Given the description of an element on the screen output the (x, y) to click on. 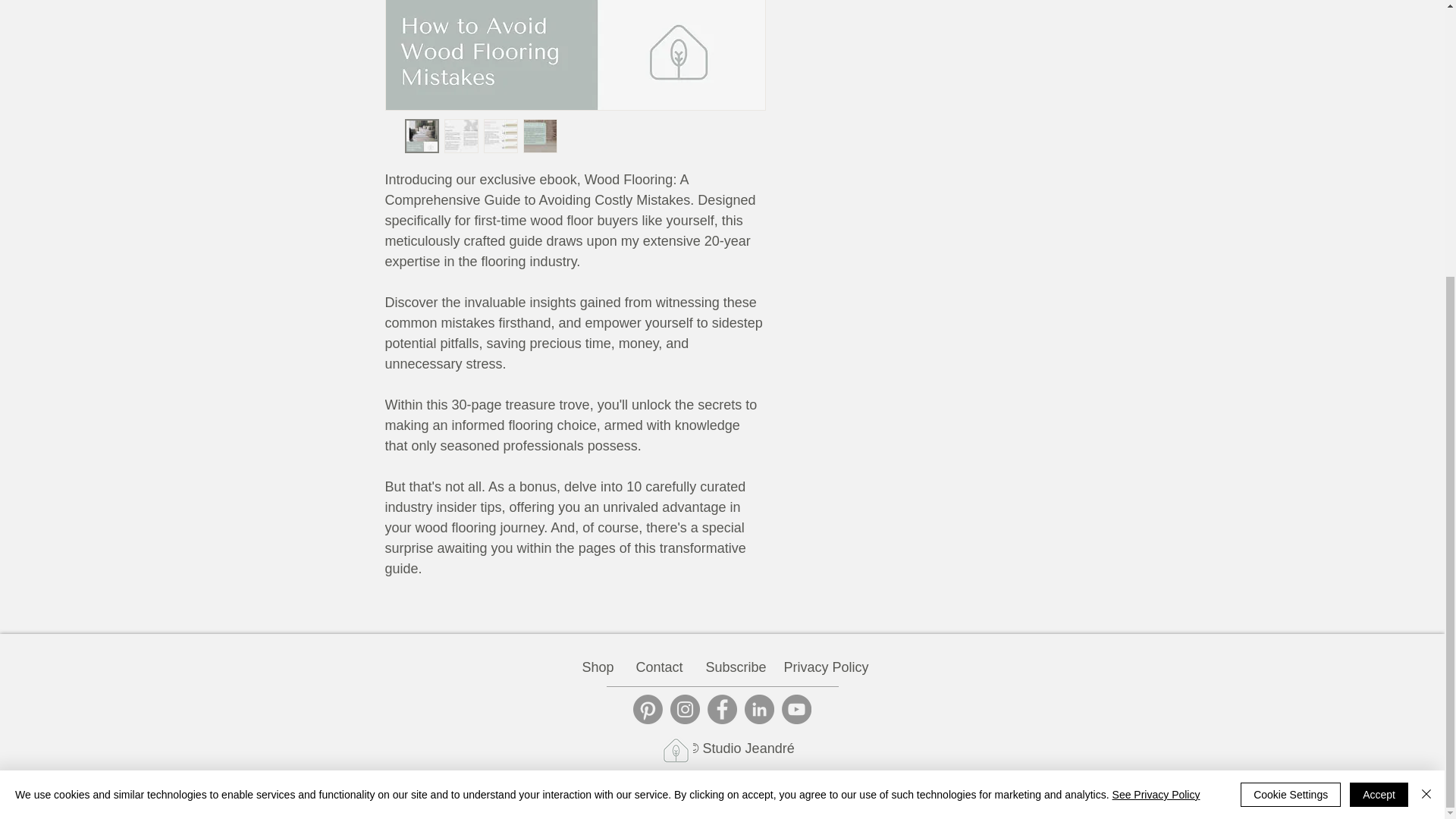
Shop (597, 667)
Contact (659, 667)
Subscribe (733, 667)
Privacy Policy (821, 667)
